Given the description of an element on the screen output the (x, y) to click on. 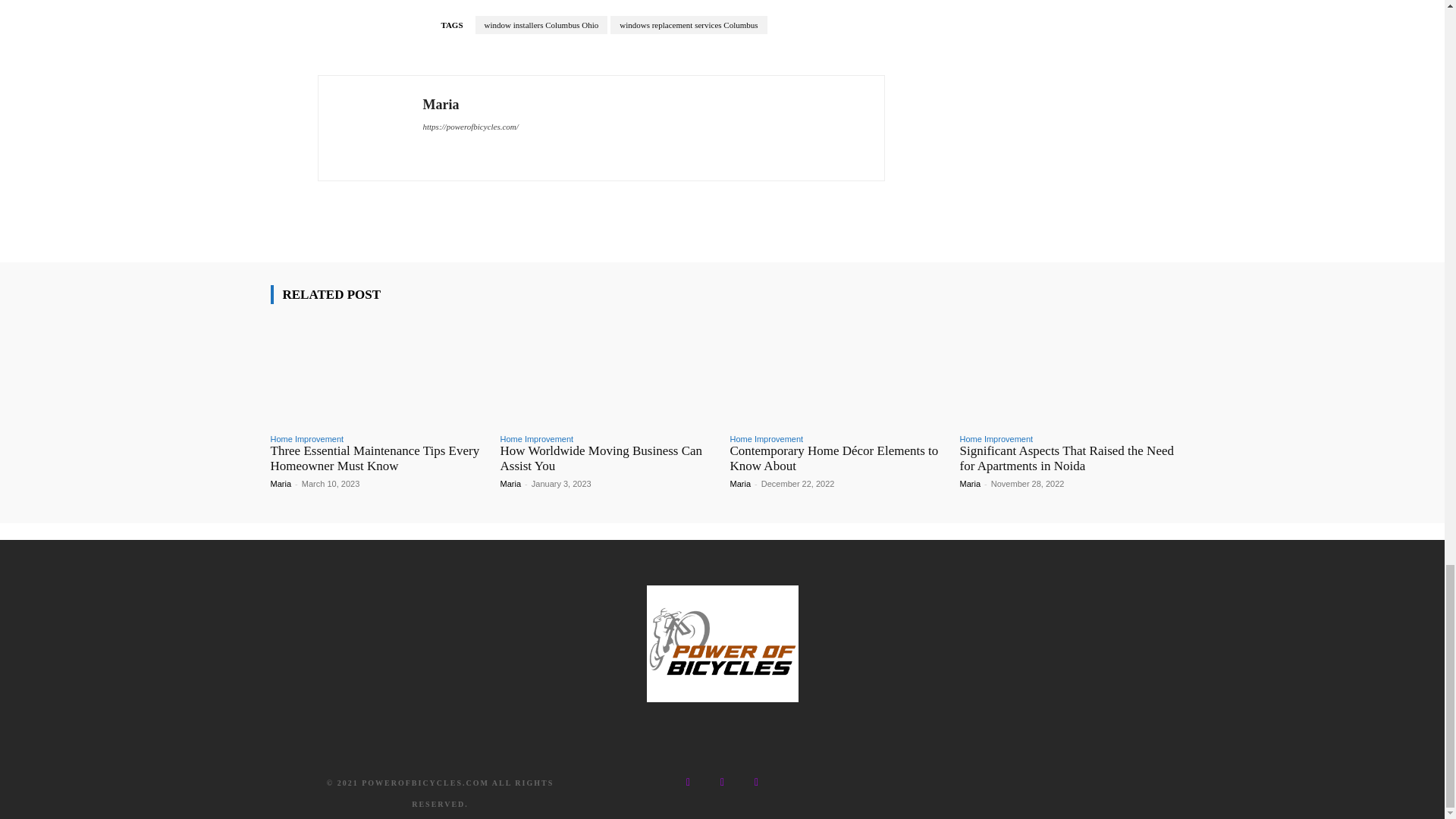
Maria (470, 105)
window installers Columbus Ohio (542, 24)
windows replacement services Columbus (688, 24)
Maria (369, 127)
